Given the description of an element on the screen output the (x, y) to click on. 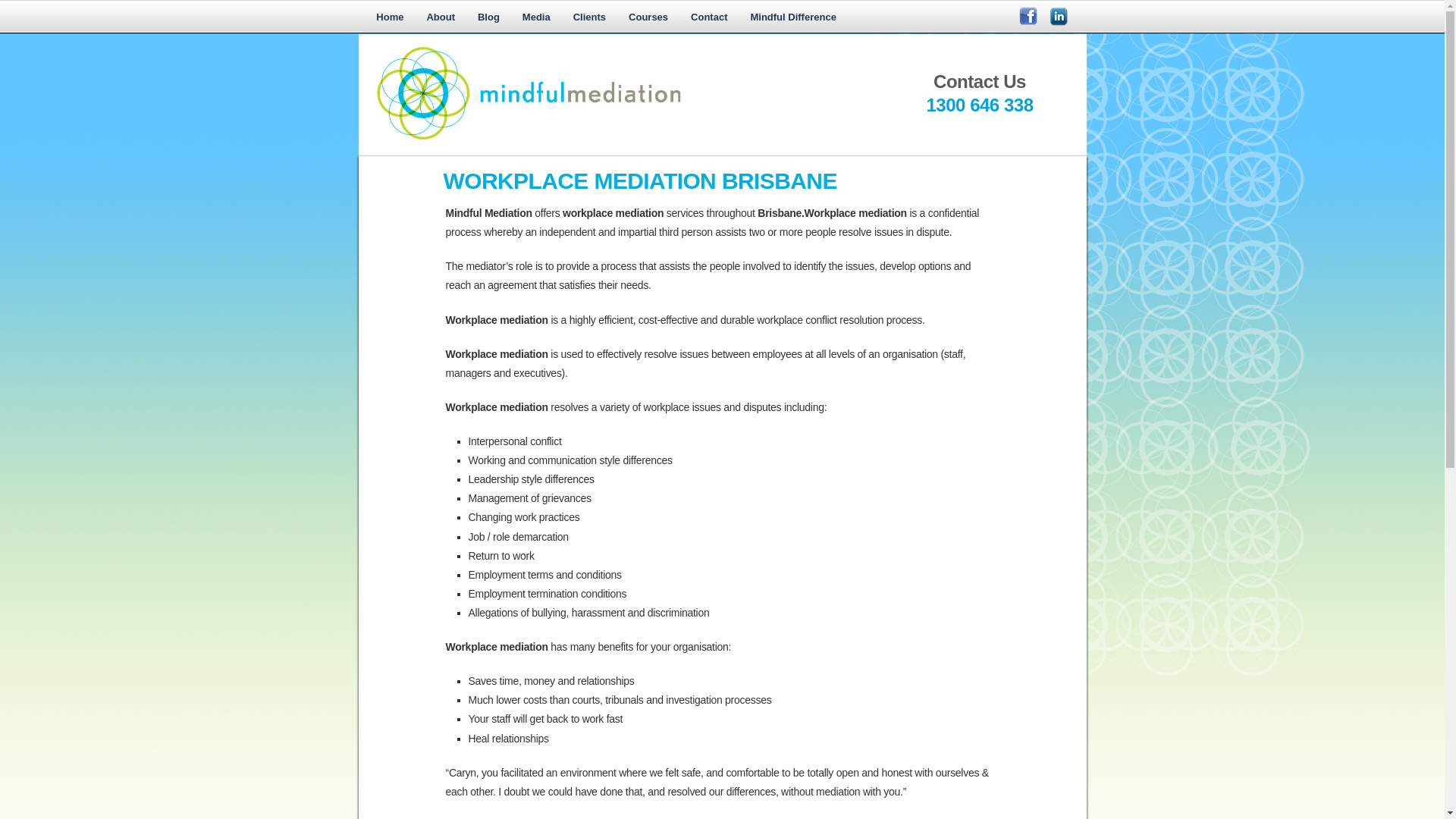
Blog Element type: text (488, 17)
Mindful Mediation Element type: hover (614, 95)
Home Element type: text (389, 17)
Mindful Mediation Element type: text (614, 139)
Mindful Difference Element type: text (792, 17)
Contact Element type: text (708, 17)
Media Element type: text (536, 17)
Clients Element type: text (589, 17)
About Element type: text (440, 17)
Courses Element type: text (648, 17)
